Given the description of an element on the screen output the (x, y) to click on. 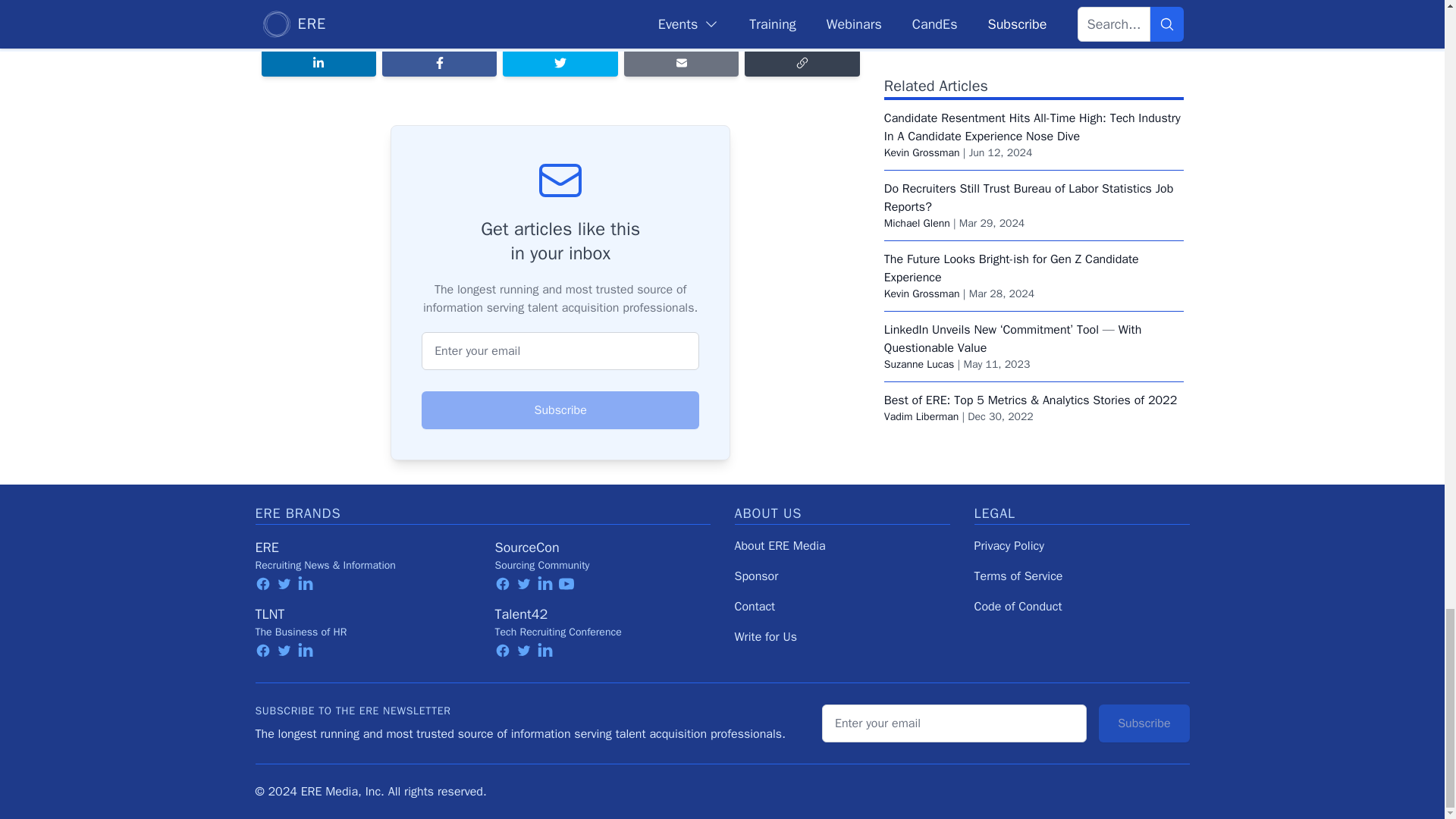
ERE (266, 547)
TLNT (268, 614)
Subscribe (560, 410)
Vadim Liberman (920, 14)
facebook (261, 583)
linkedin (305, 583)
facebook (261, 650)
twitter (283, 583)
